Given the description of an element on the screen output the (x, y) to click on. 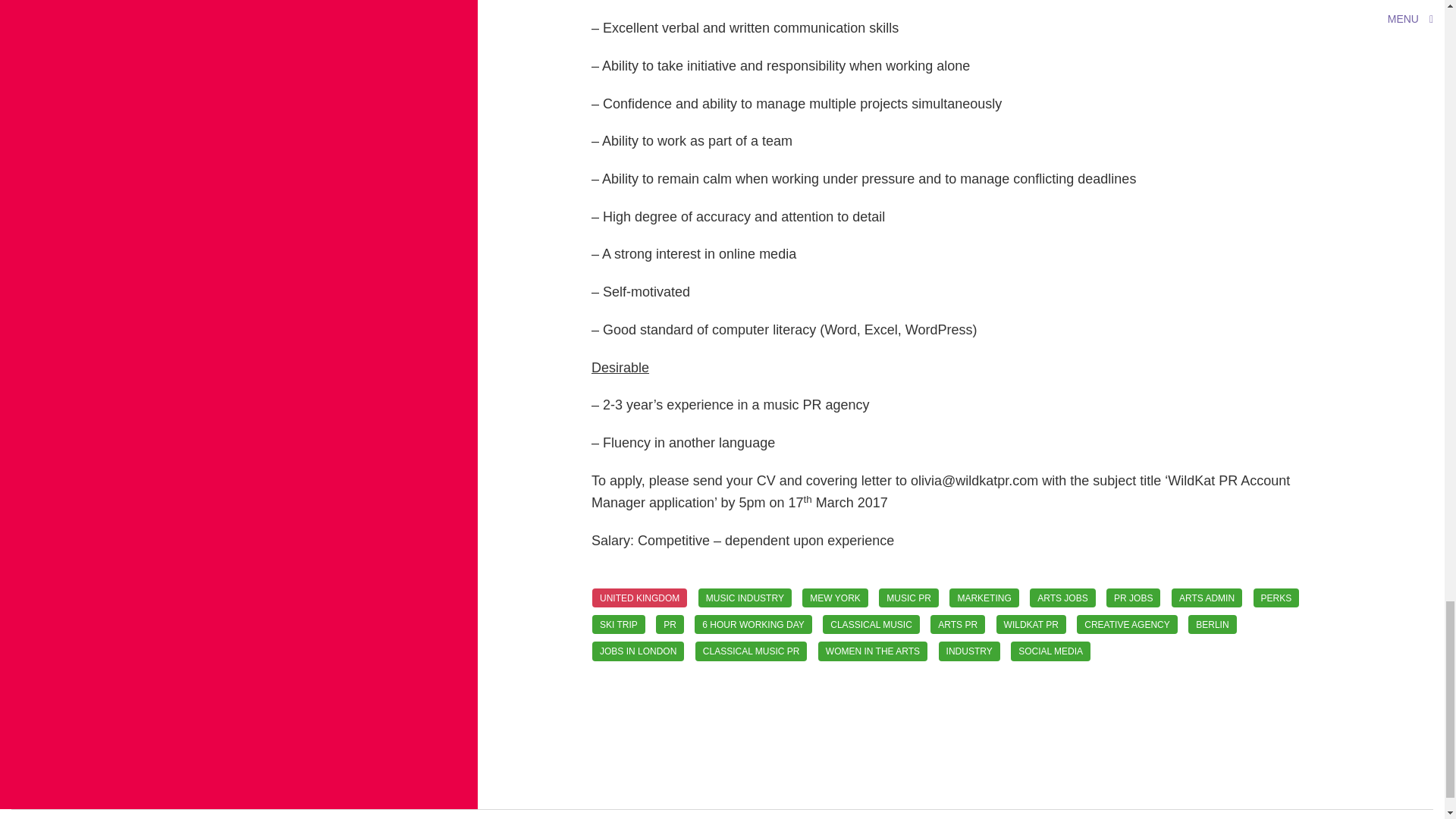
6 HOUR WORKING DAY (752, 624)
MARKETING (983, 597)
UNITED KINGDOM (639, 597)
CLASSICAL MUSIC PR (751, 650)
WILDKAT PR (1030, 624)
PR (670, 624)
BERLIN (1212, 624)
MUSIC INDUSTRY (745, 597)
MEW YORK (834, 597)
INDUSTRY (969, 650)
MUSIC PR (909, 597)
CLASSICAL MUSIC (871, 624)
PR JOBS (1133, 597)
CREATIVE AGENCY (1126, 624)
SOCIAL MEDIA (1050, 650)
